Given the description of an element on the screen output the (x, y) to click on. 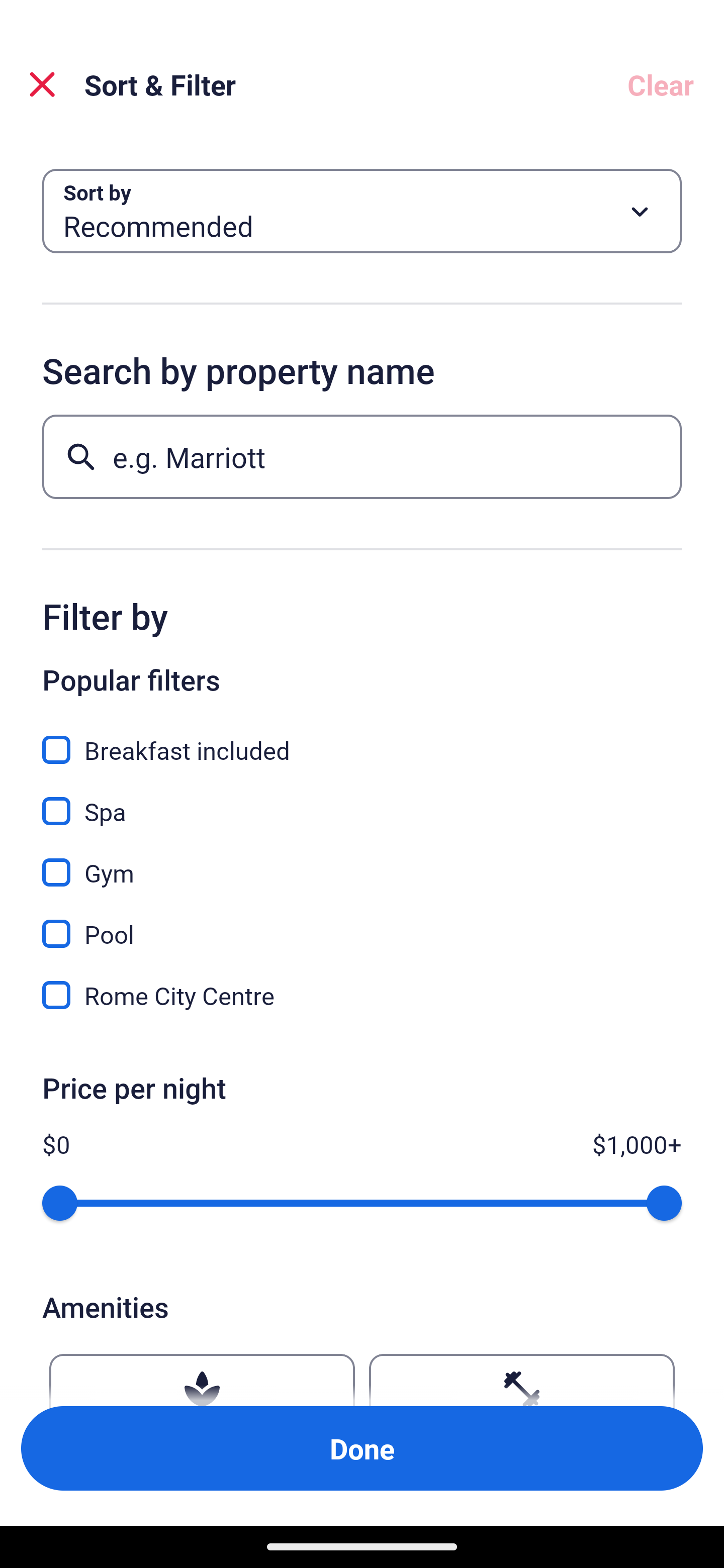
Close Sort and Filter (42, 84)
Clear (660, 84)
Sort by Button Recommended (361, 211)
e.g. Marriott Button (361, 455)
Breakfast included, Breakfast included (361, 738)
Spa, Spa (361, 800)
Gym, Gym (361, 861)
Pool, Pool (361, 922)
Rome City Centre, Rome City Centre (361, 995)
Apply and close Sort and Filter Done (361, 1448)
